Given the description of an element on the screen output the (x, y) to click on. 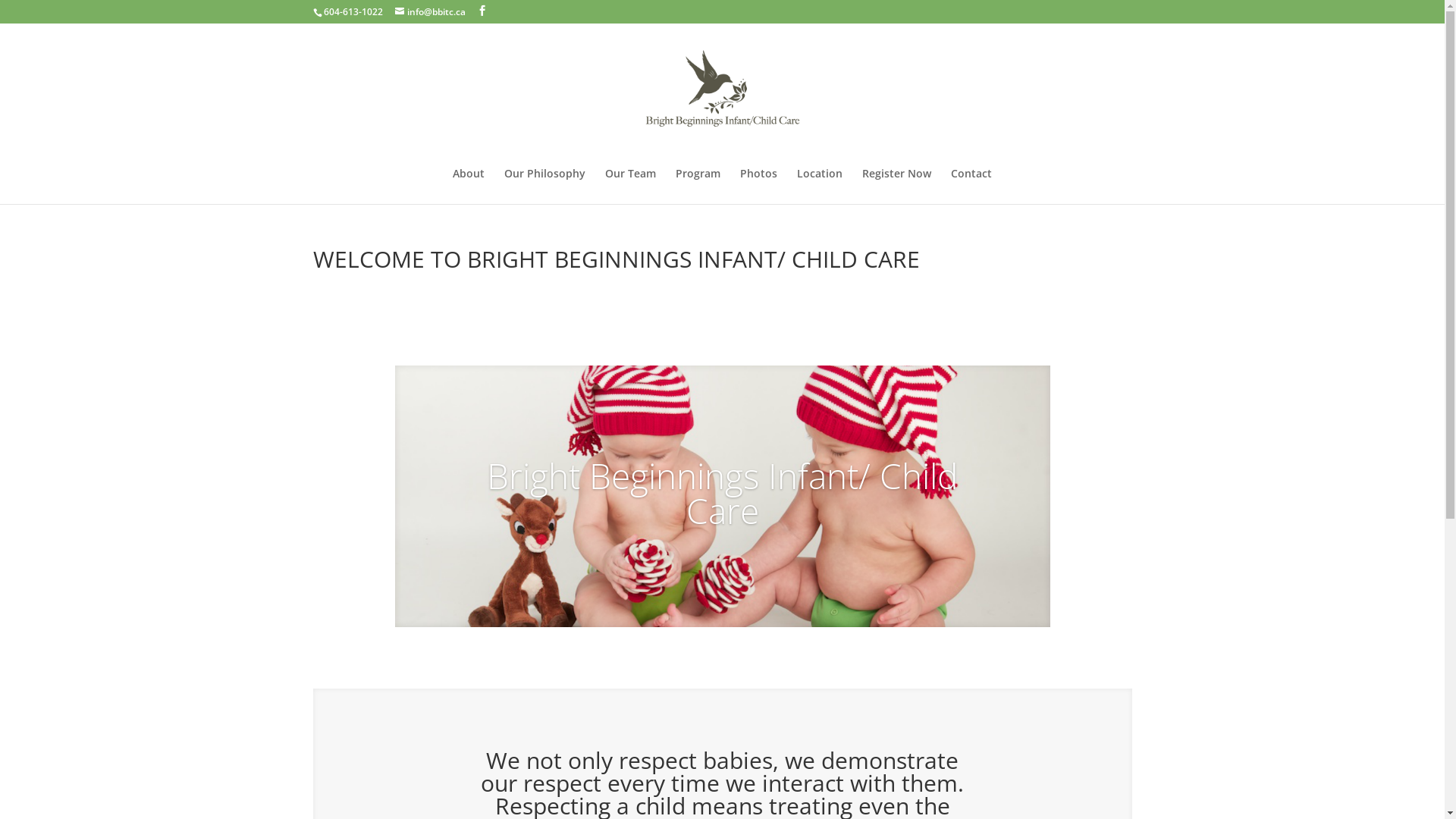
Our Philosophy Element type: text (544, 185)
Photos Element type: text (758, 185)
Register Now Element type: text (896, 185)
info@bbitc.ca Element type: text (429, 11)
Program Element type: text (697, 185)
Contact Element type: text (970, 185)
About Element type: text (468, 185)
Our Team Element type: text (630, 185)
Location Element type: text (819, 185)
